Given the description of an element on the screen output the (x, y) to click on. 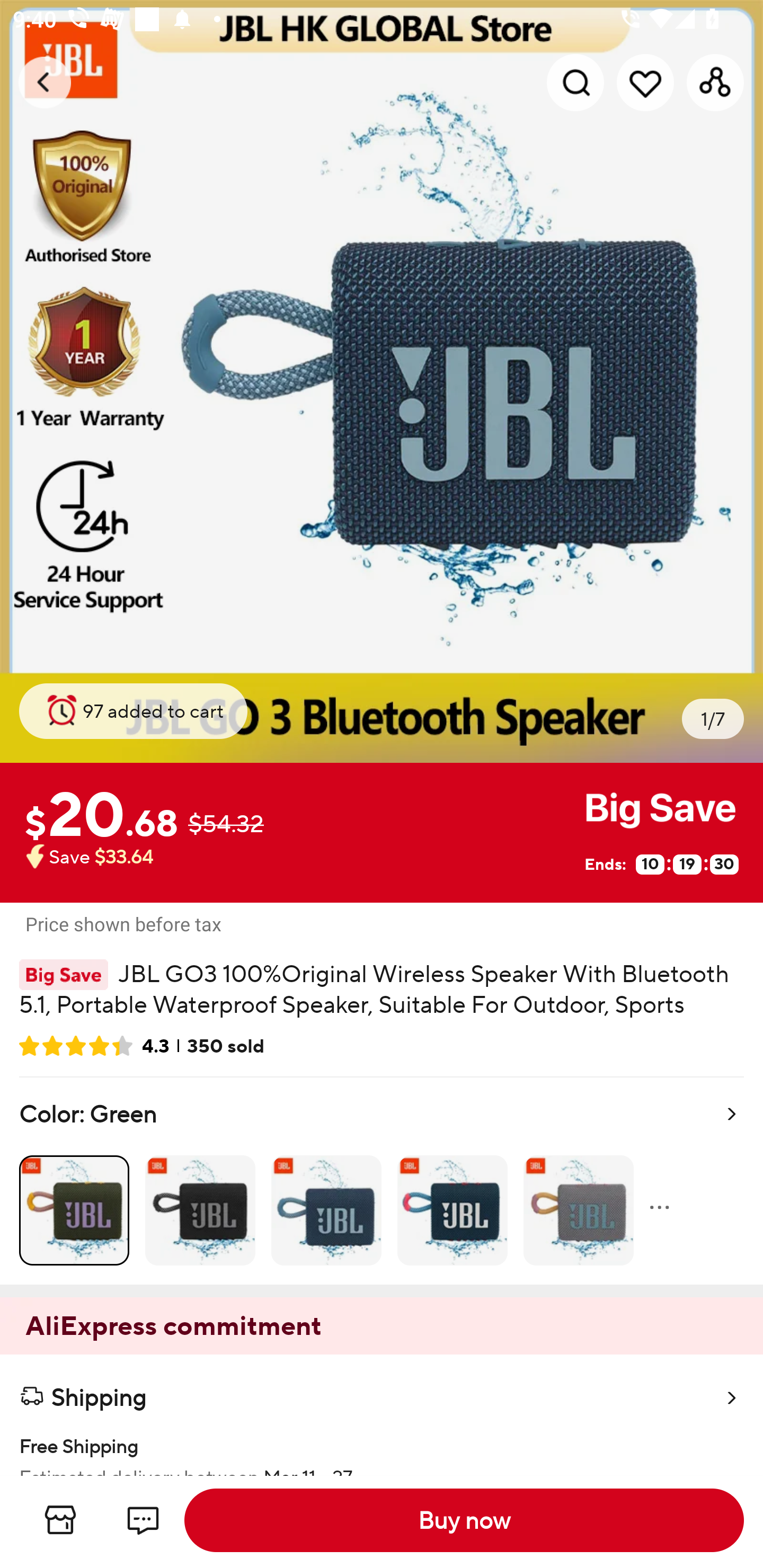
Navigate up (44, 82)
Color: Green  (381, 1180)
Buy now (463, 1520)
